Given the description of an element on the screen output the (x, y) to click on. 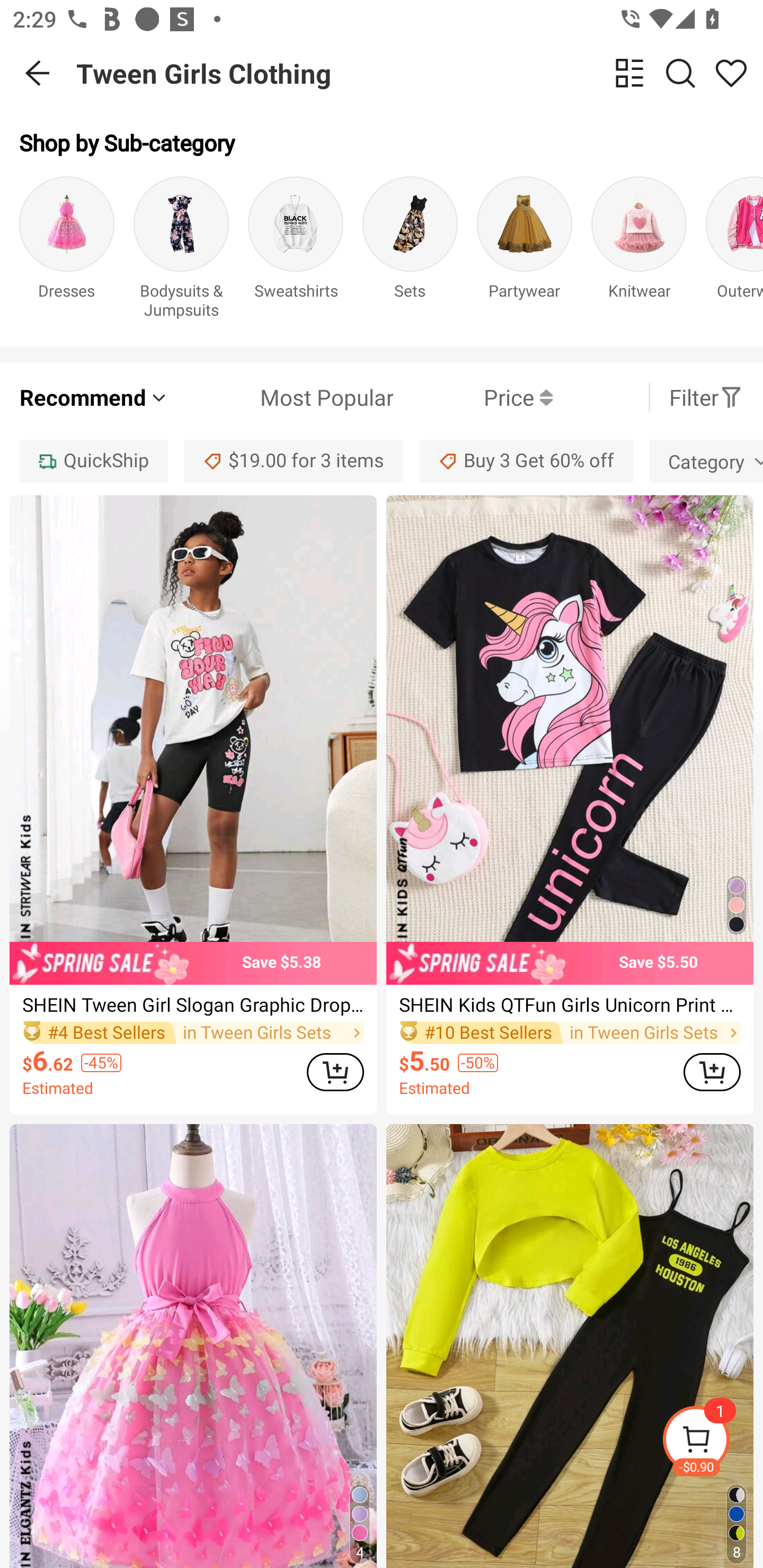
Tween Girls Clothing change view Search Share (419, 72)
change view (629, 72)
Search (679, 72)
Share (730, 72)
Dresses (66, 251)
Bodysuits & Jumpsuits (180, 251)
Sweatshirts (295, 251)
Sets (409, 251)
Partywear (524, 251)
Knitwear (638, 251)
Outerwear (734, 251)
Recommend (94, 397)
Most Popular (280, 397)
Price (472, 397)
Filter (705, 397)
QuickShip (93, 460)
$19.00 for 3 items (292, 460)
Buy 3 Get 60% off (525, 460)
Category (706, 460)
#4 Best Sellers in Tween Girls Sets (192, 1032)
#10 Best Sellers in Tween Girls Sets (569, 1032)
ADD TO CART (334, 1072)
ADD TO CART (711, 1072)
-$0.90 (712, 1441)
